Given the description of an element on the screen output the (x, y) to click on. 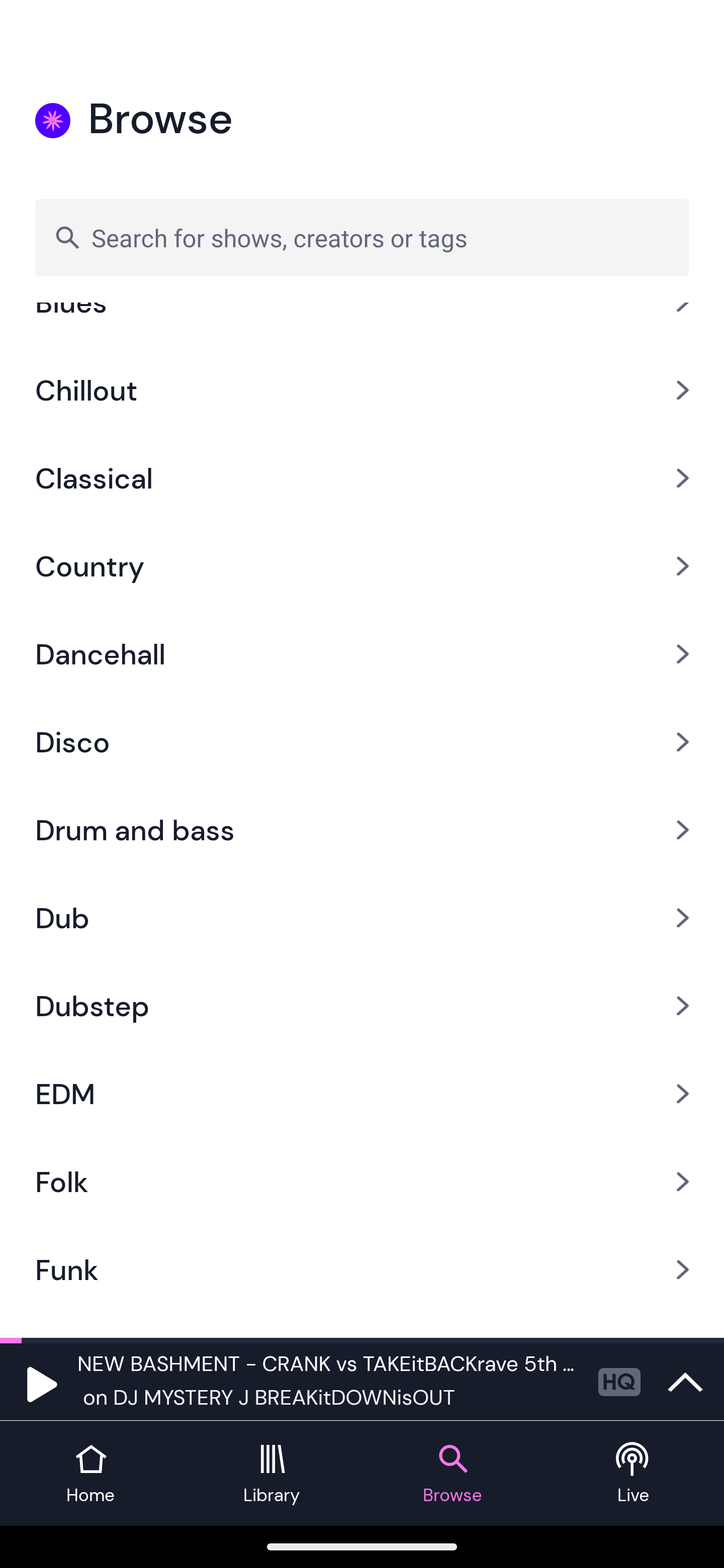
Search for shows, creators or tags (361, 237)
Chillout (361, 390)
Classical (361, 478)
Country (361, 565)
Dancehall (361, 653)
Disco (361, 741)
Drum and bass (361, 829)
Dub (361, 917)
Dubstep (361, 1005)
EDM (361, 1094)
Folk (361, 1182)
Funk (361, 1269)
Home tab Home (90, 1473)
Library tab Library (271, 1473)
Browse tab Browse (452, 1473)
Live tab Live (633, 1473)
